Given the description of an element on the screen output the (x, y) to click on. 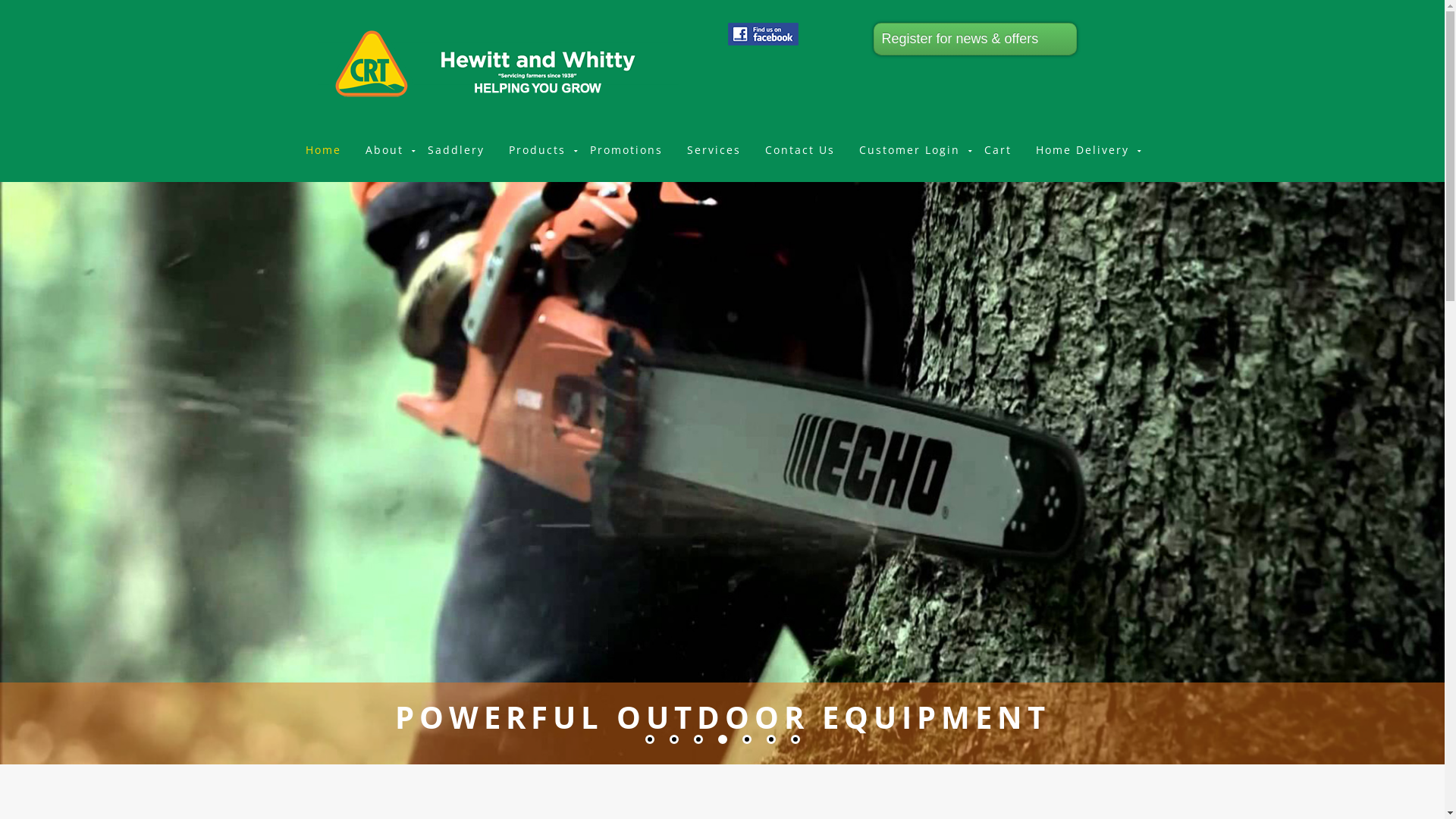
Customer Login Element type: text (908, 149)
Home Delivery Element type: text (1082, 149)
About Element type: text (384, 149)
Products Element type: text (536, 149)
Contact Us Element type: text (799, 149)
Cart Element type: text (997, 149)
Services Element type: text (713, 149)
Home Element type: text (322, 149)
Saddlery Element type: text (455, 149)
Promotions Element type: text (625, 149)
